Given the description of an element on the screen output the (x, y) to click on. 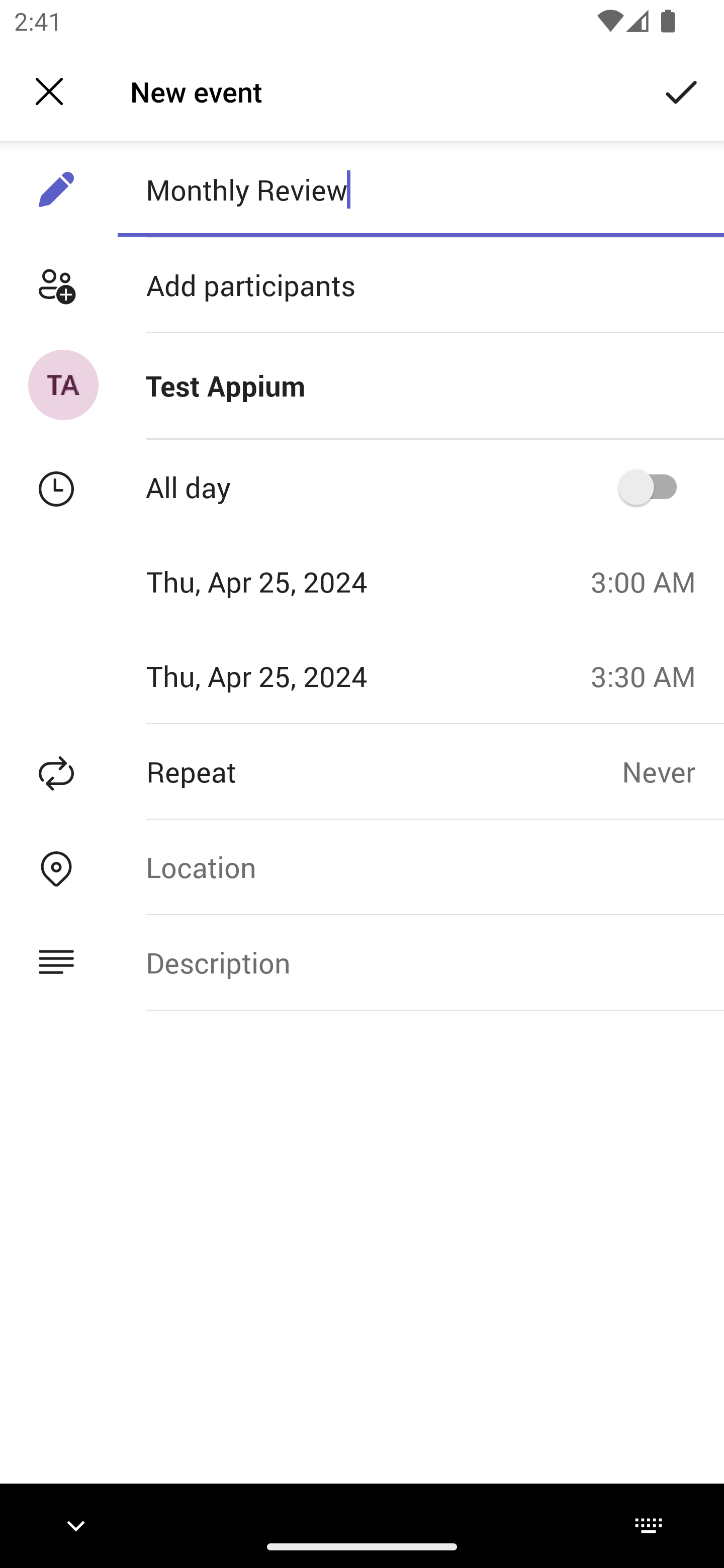
Back (49, 91)
Send invite (681, 90)
Monthly Review (420, 189)
Add participants Add participants option (362, 285)
All day (654, 486)
Thu, Apr 25, 2024 Starts Thursday Apr 25, 2024 (288, 581)
3:00 AM Start time 3:00 AM (650, 581)
Thu, Apr 25, 2024 Ends Thursday Apr 25, 2024 (288, 675)
3:30 AM End time 3:30 AM (650, 675)
Repeat (310, 771)
Never Repeat Never (672, 771)
Location (420, 867)
Description (420, 962)
